Given the description of an element on the screen output the (x, y) to click on. 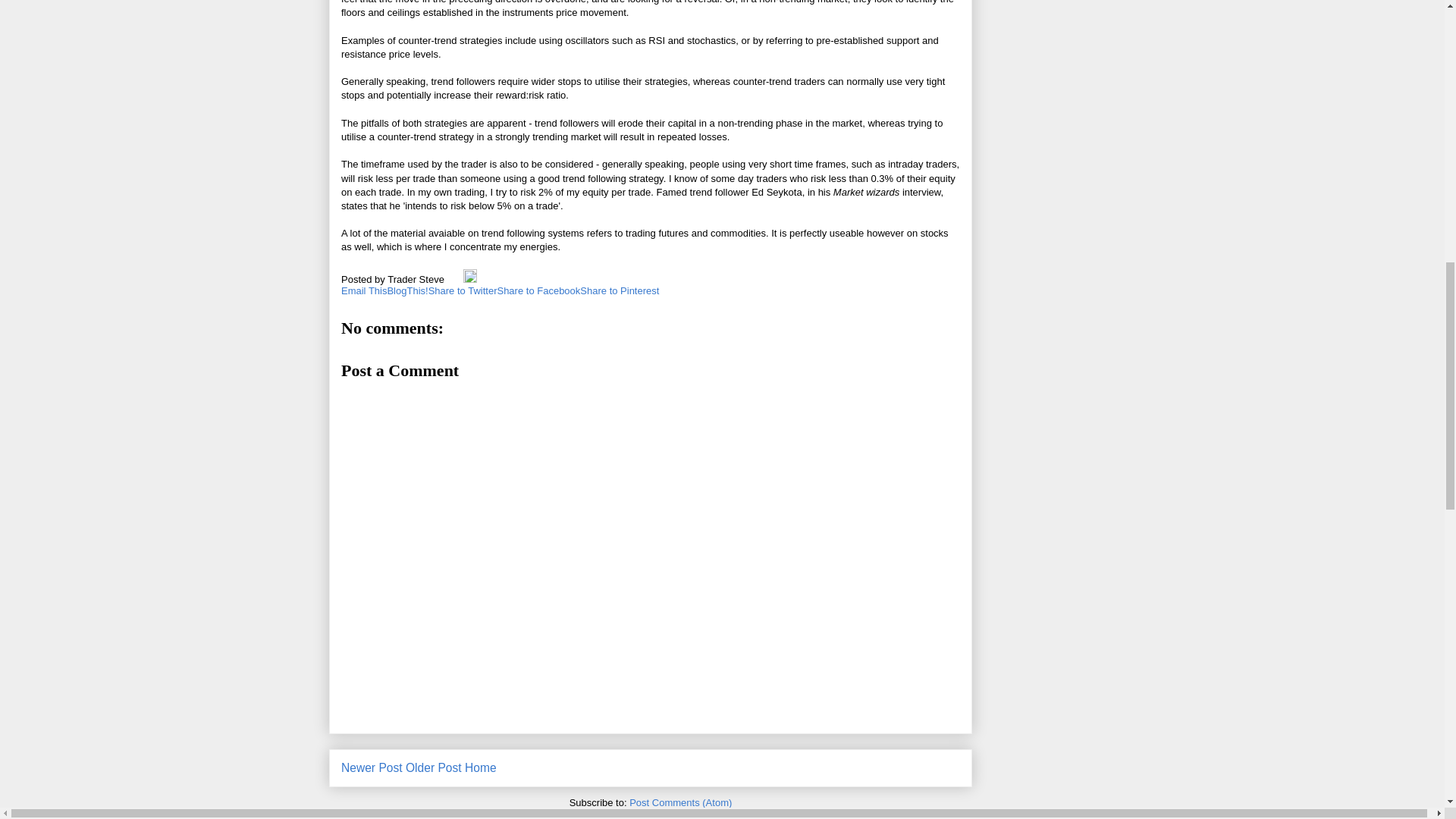
Edit Post (470, 279)
Email Post (455, 279)
Share to Pinterest (619, 290)
Share to Facebook (537, 290)
Newer Post (371, 767)
Newer Post (371, 767)
BlogThis! (407, 290)
Email This (363, 290)
Share to Twitter (462, 290)
Home (480, 767)
Older Post (433, 767)
Share to Twitter (462, 290)
Email This (363, 290)
Share to Facebook (537, 290)
BlogThis! (407, 290)
